Given the description of an element on the screen output the (x, y) to click on. 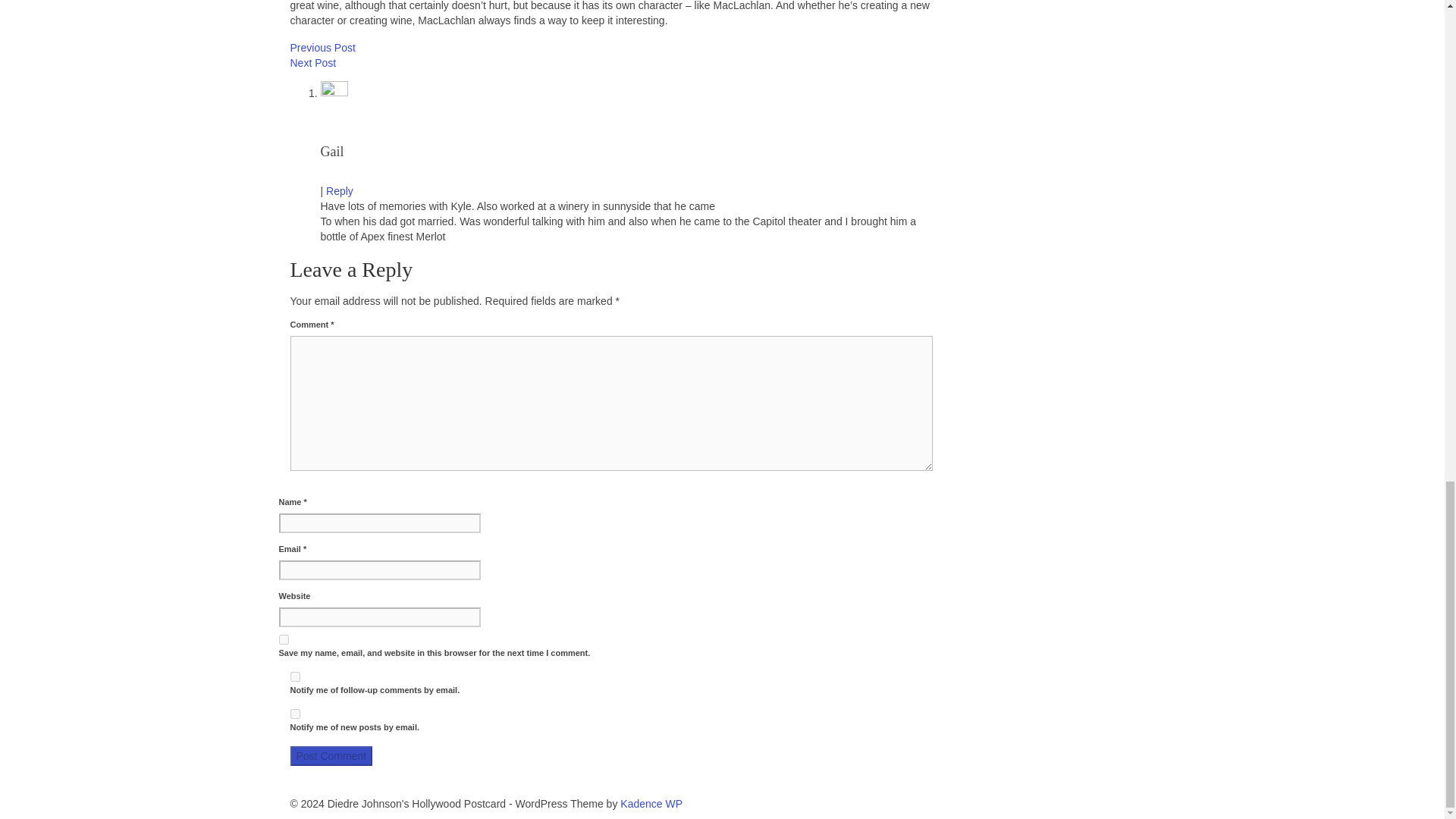
subscribe (294, 714)
yes (283, 639)
Post Comment (330, 755)
subscribe (294, 676)
